Given the description of an element on the screen output the (x, y) to click on. 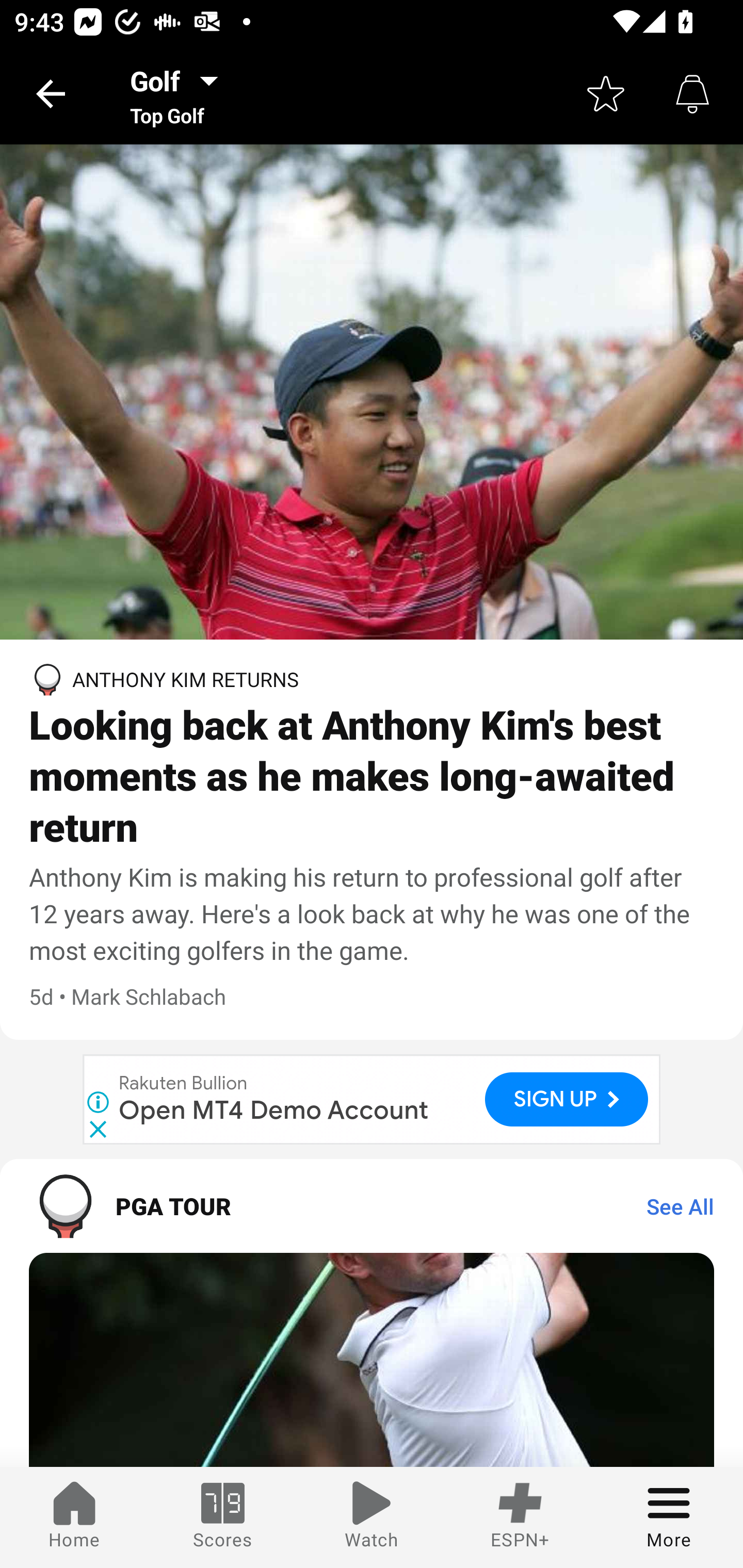
Golf Top Golf (180, 93)
Favorite toggle (605, 93)
Alerts (692, 93)
Rakuten Bullion (183, 1084)
SIGN UP (566, 1098)
Open MT4 Demo Account (274, 1109)
PGA TOUR See All (371, 1205)
Home (74, 1517)
Scores (222, 1517)
Watch (371, 1517)
ESPN+ (519, 1517)
